Given the description of an element on the screen output the (x, y) to click on. 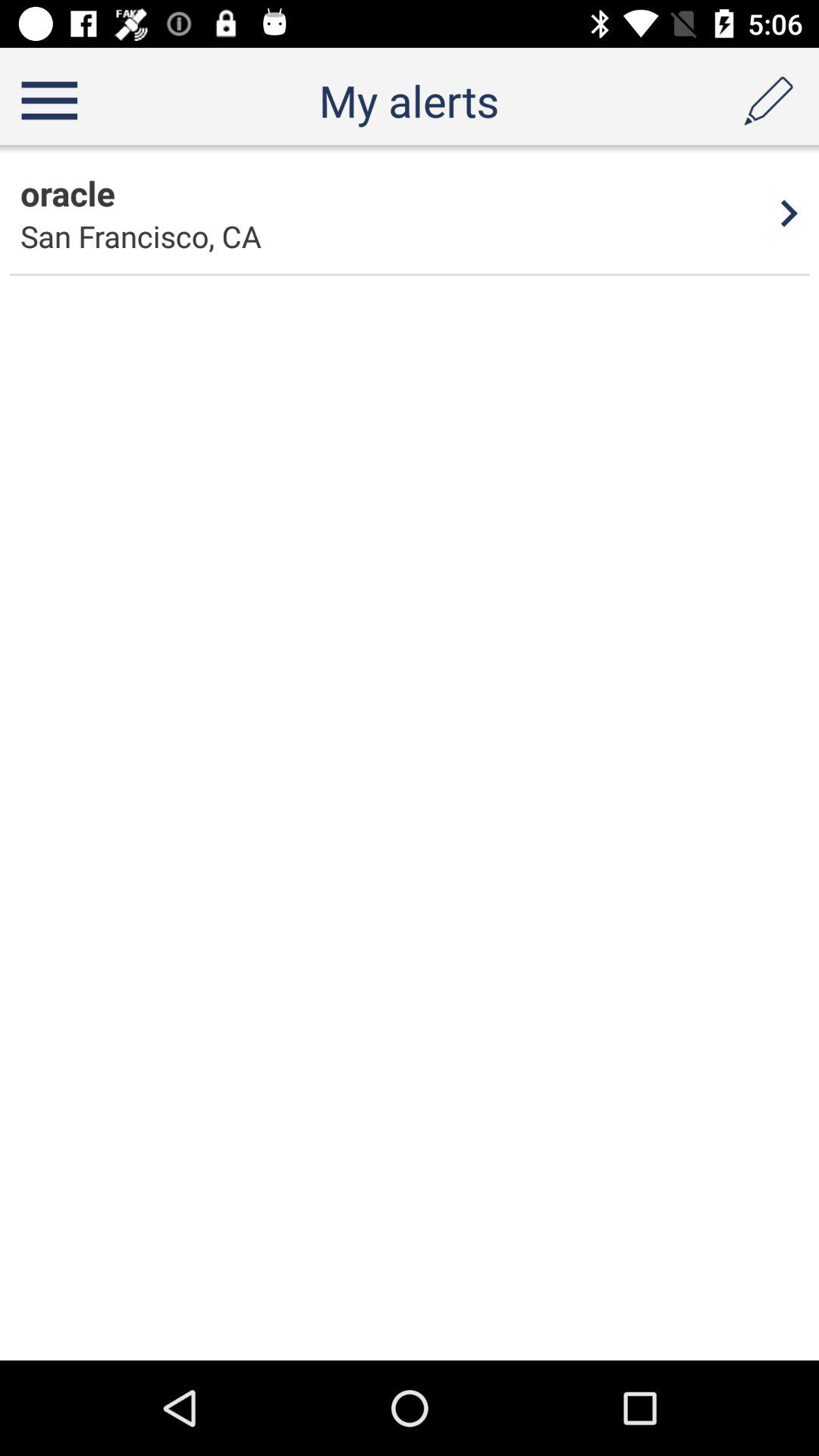
click the app next to the 4 item (140, 236)
